Given the description of an element on the screen output the (x, y) to click on. 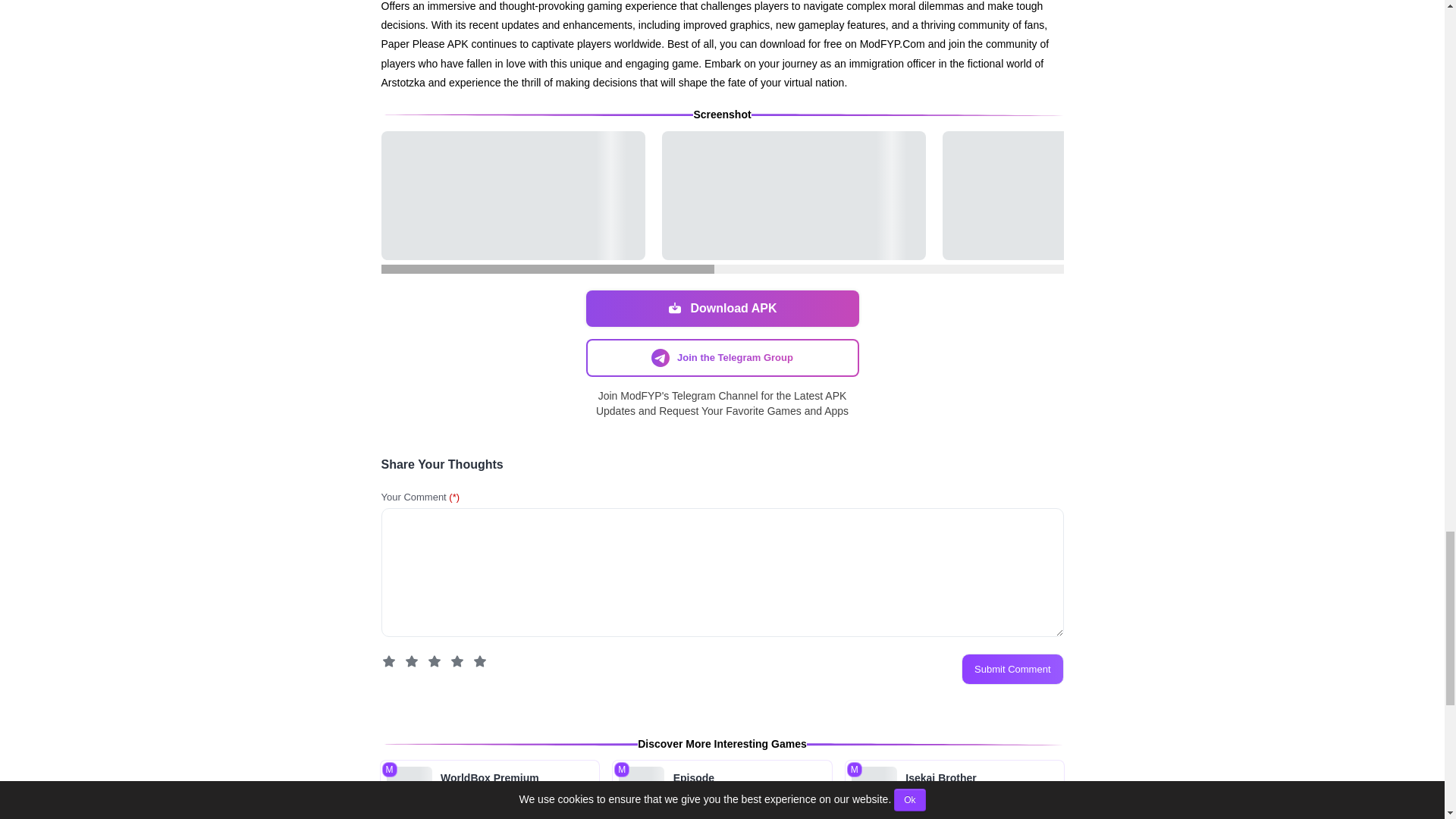
Isekai Brother (954, 789)
Episode (721, 789)
WorldBox Premium (488, 789)
